Given the description of an element on the screen output the (x, y) to click on. 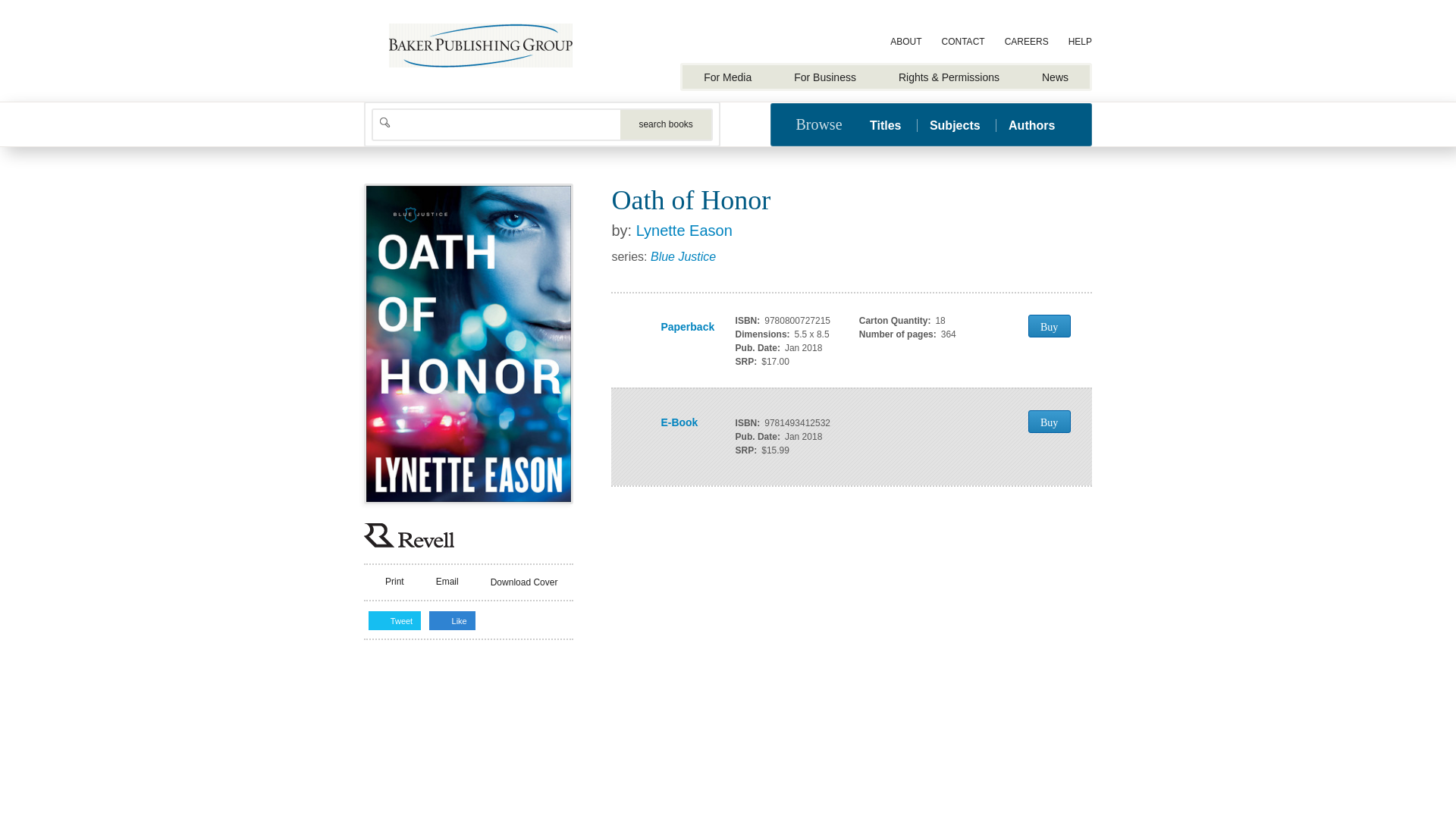
Titles (891, 124)
Lynette Eason (684, 230)
HELP (1080, 41)
Authors (1031, 124)
For Media (727, 76)
Baker Publishing Group (480, 45)
Buy (1048, 421)
Search Books (665, 124)
CAREERS (1026, 41)
Subjects (954, 124)
Blue Justice (683, 256)
Print (386, 581)
Email (438, 581)
Buy (1048, 325)
Search Books (665, 124)
